Given the description of an element on the screen output the (x, y) to click on. 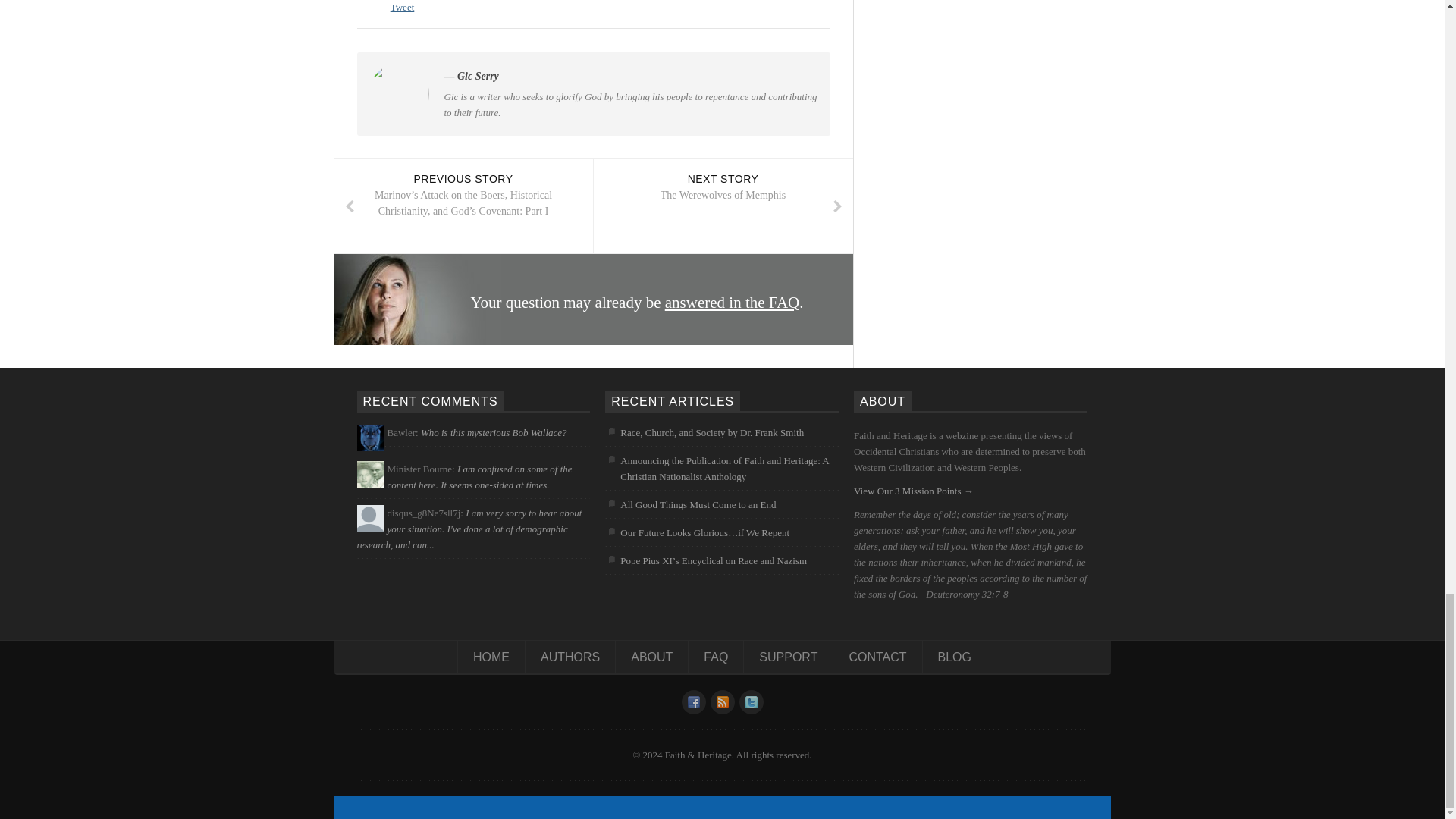
Posted on Great Places for White People to Live (468, 539)
Posted on Finis Dake on Racial Segregation (479, 478)
